Given the description of an element on the screen output the (x, y) to click on. 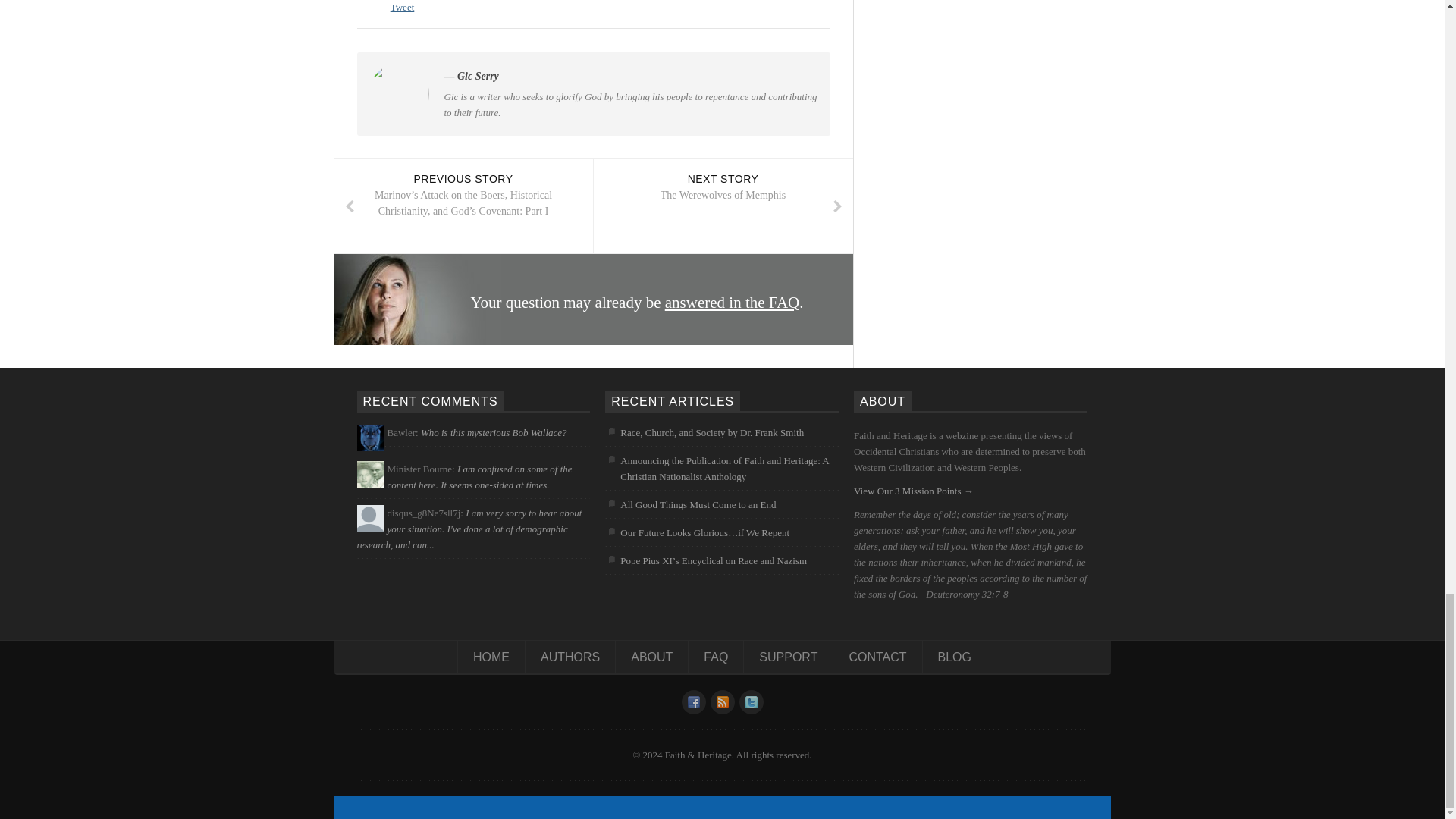
Posted on Great Places for White People to Live (468, 539)
Posted on Finis Dake on Racial Segregation (479, 478)
